Given the description of an element on the screen output the (x, y) to click on. 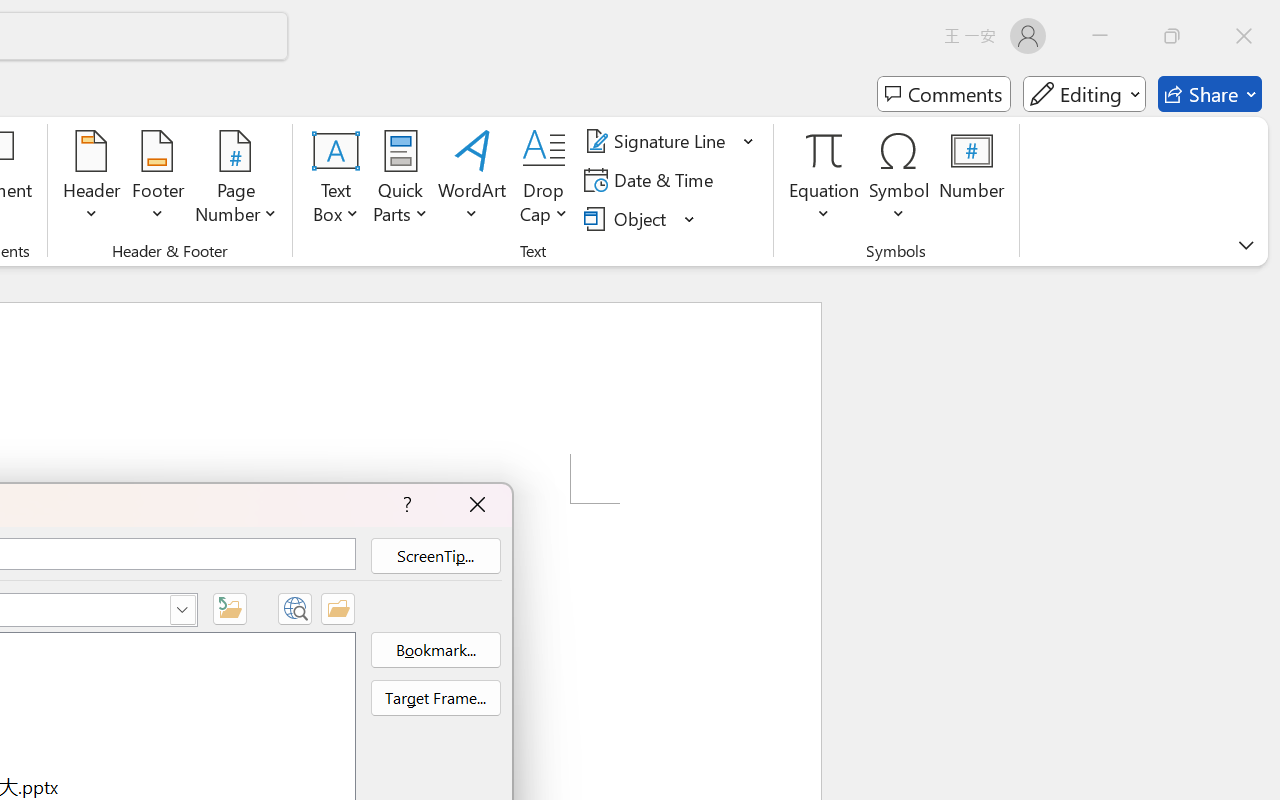
Up One Folder (230, 608)
Mode (1083, 94)
Bookmark... (435, 649)
More Options (823, 206)
Restore Down (1172, 36)
Drop Cap (543, 179)
Equation (823, 179)
Close (1244, 36)
Date & Time... (651, 179)
Target Frame... (435, 697)
Header (92, 179)
Text Box (335, 179)
Signature Line (658, 141)
Symbol (899, 179)
